Given the description of an element on the screen output the (x, y) to click on. 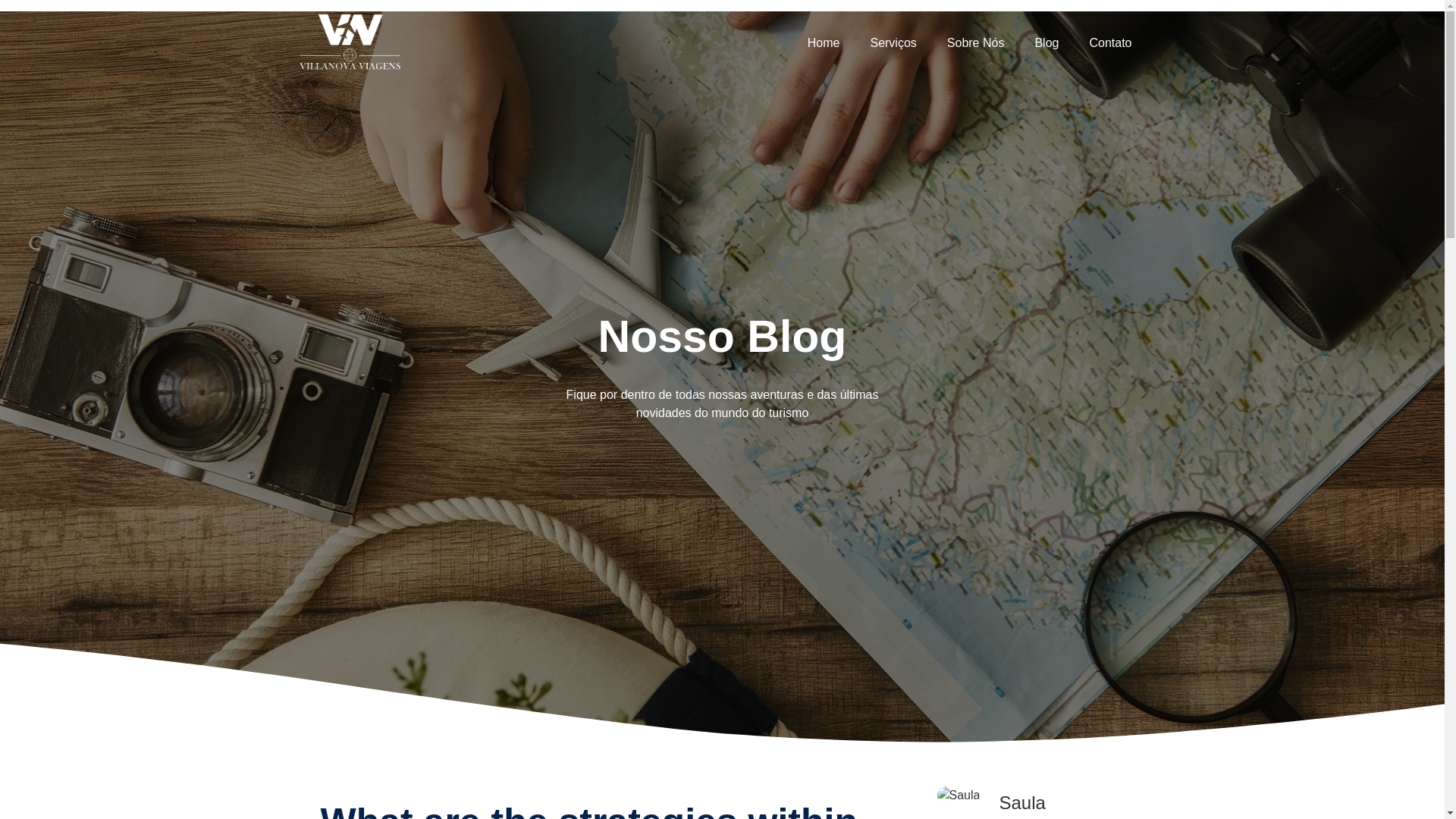
Blog (1046, 42)
Home (824, 42)
Contato (1110, 42)
